Given the description of an element on the screen output the (x, y) to click on. 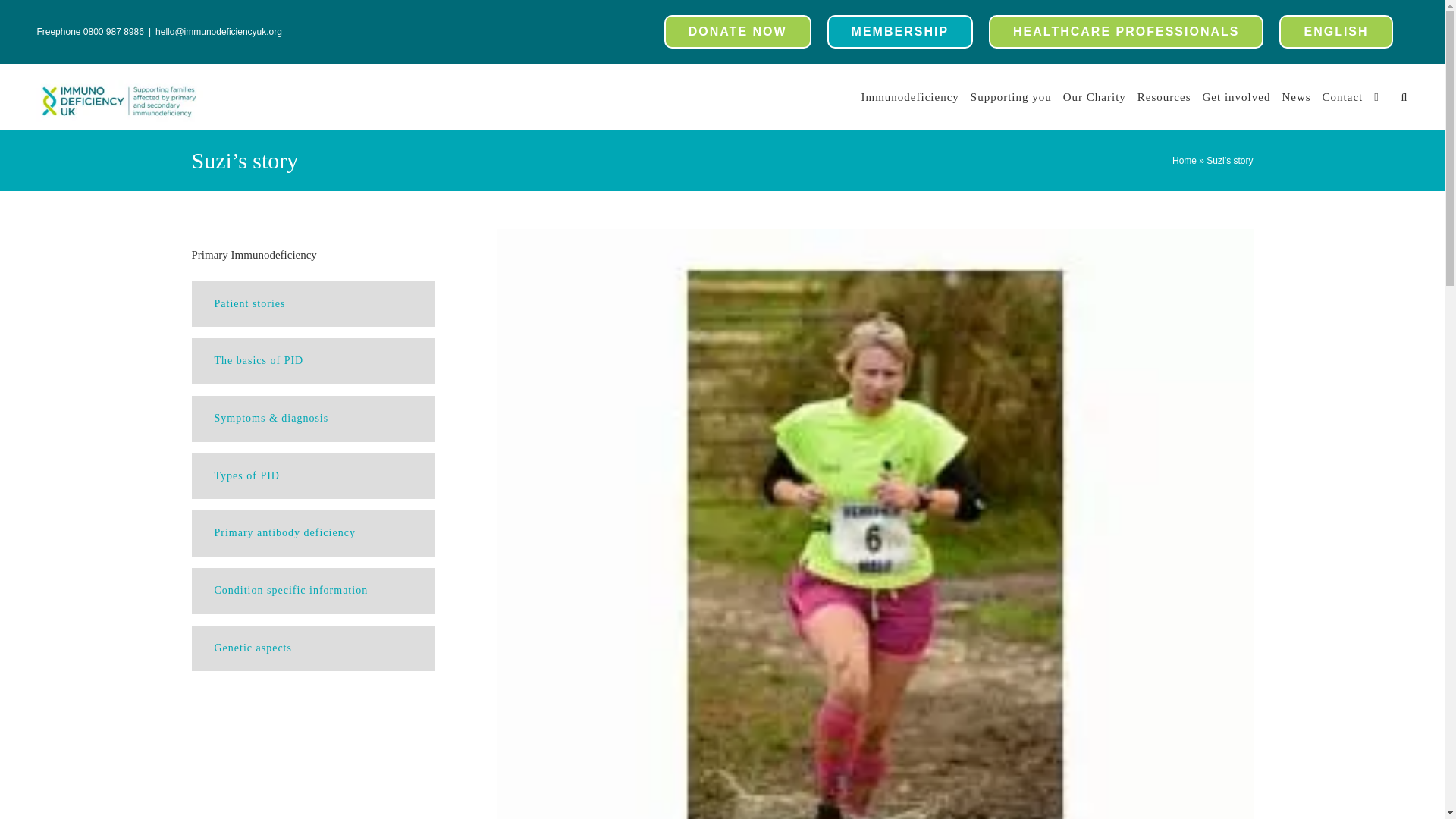
Supporting you (1011, 95)
HEALTHCARE PROFESSIONALS (1125, 31)
DONATE NOW (736, 31)
Immunodeficiency (910, 95)
ENGLISH (1335, 31)
MEMBERSHIP (899, 31)
